Given the description of an element on the screen output the (x, y) to click on. 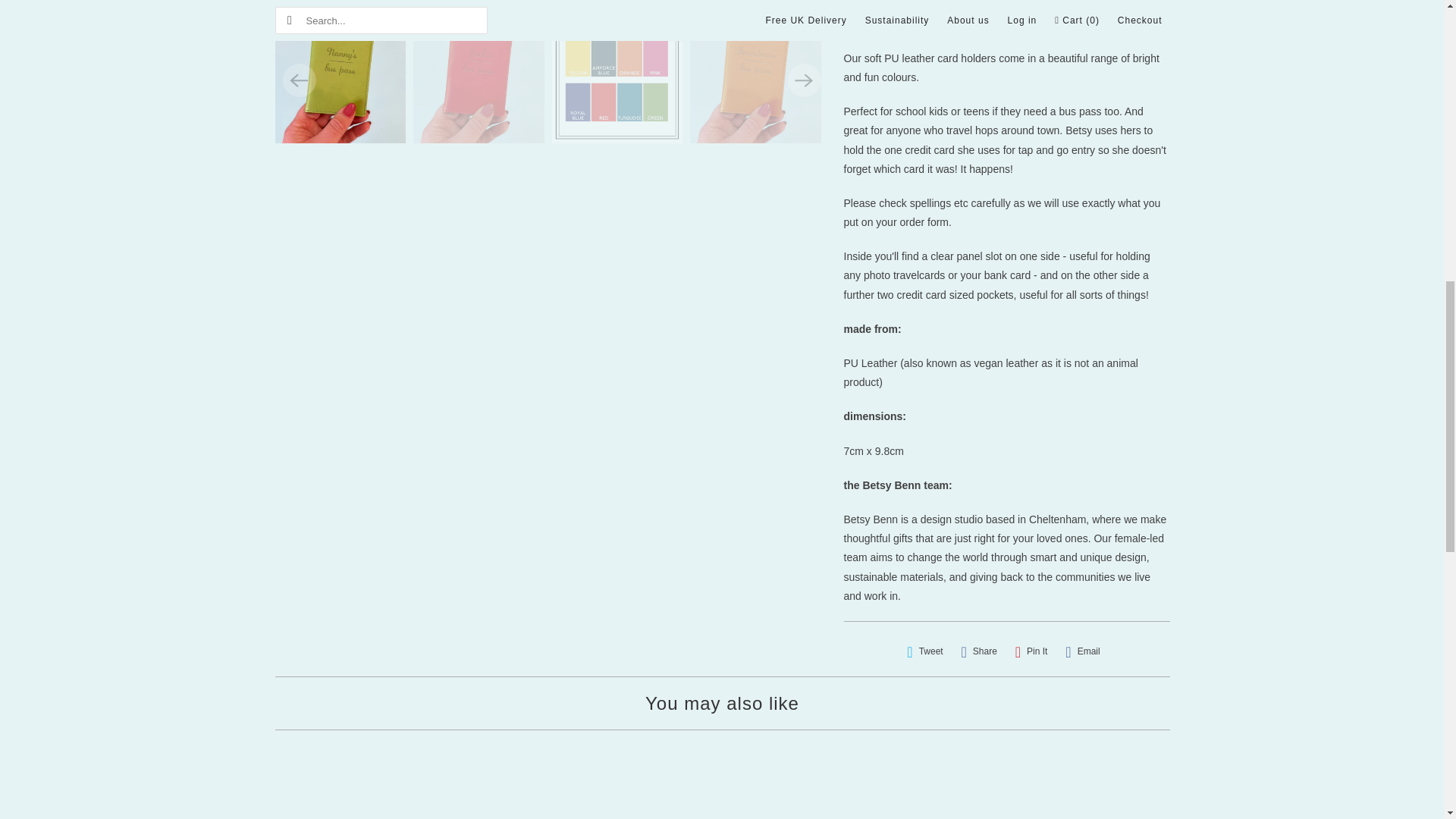
Email this to a friend (1082, 651)
Share this on Pinterest (1031, 651)
Share this on Twitter (924, 651)
Share this on Facebook (978, 651)
